Given the description of an element on the screen output the (x, y) to click on. 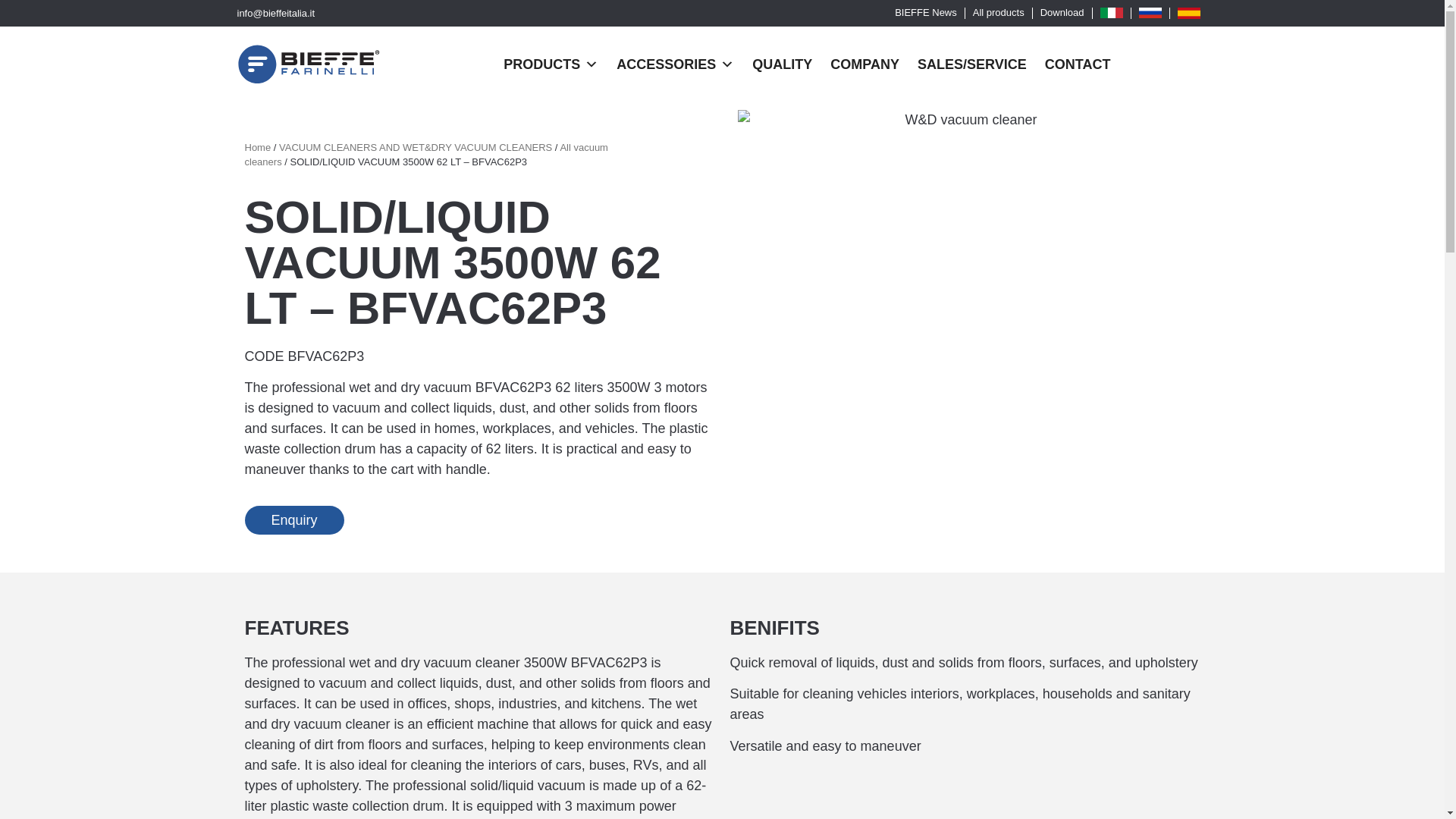
BIEFFE News (925, 13)
PRODUCTS (550, 63)
Download (1062, 13)
All products (998, 13)
